Given the description of an element on the screen output the (x, y) to click on. 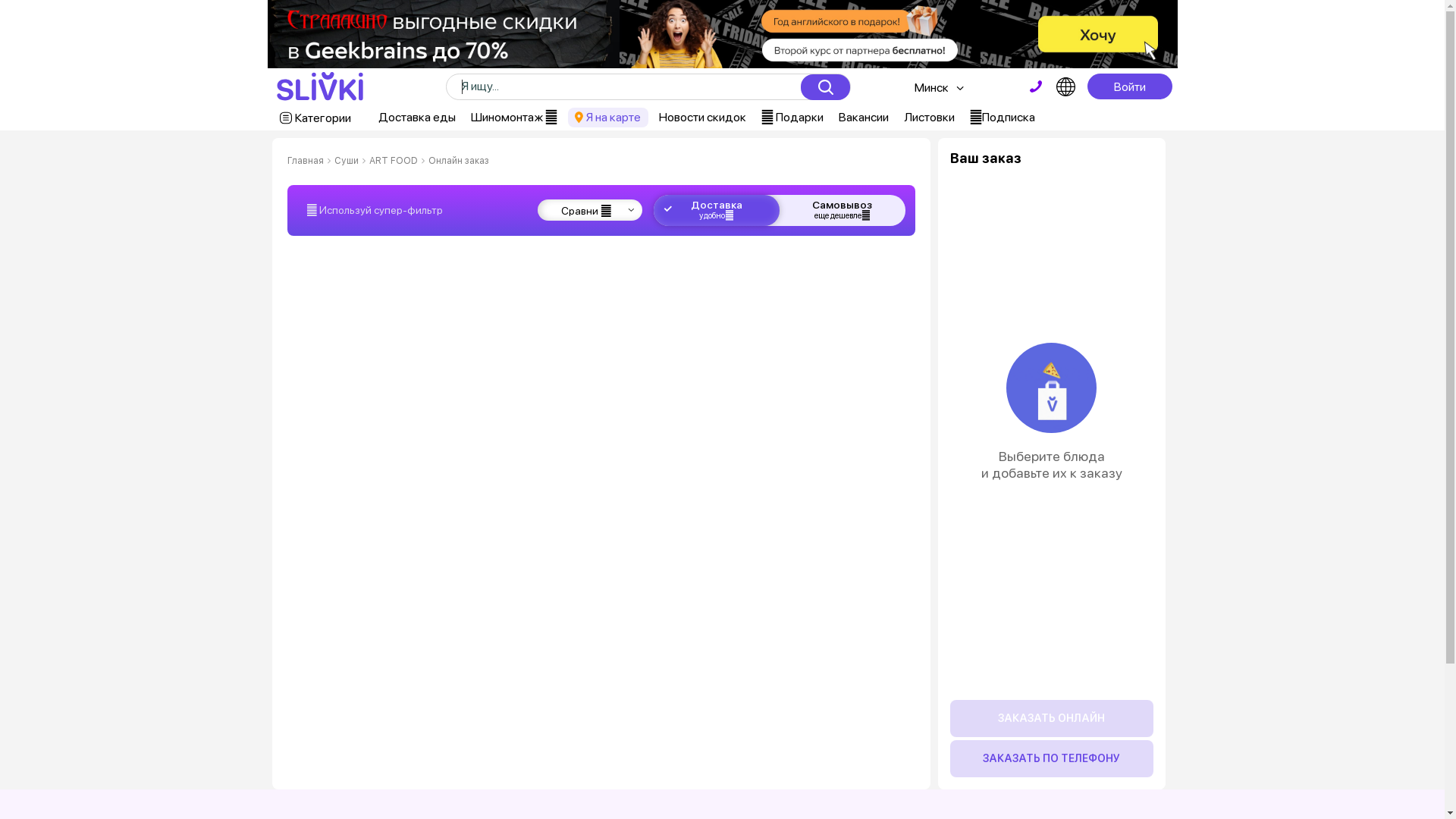
  Element type: text (1035, 86)
ART FOOD Element type: text (392, 160)
